Given the description of an element on the screen output the (x, y) to click on. 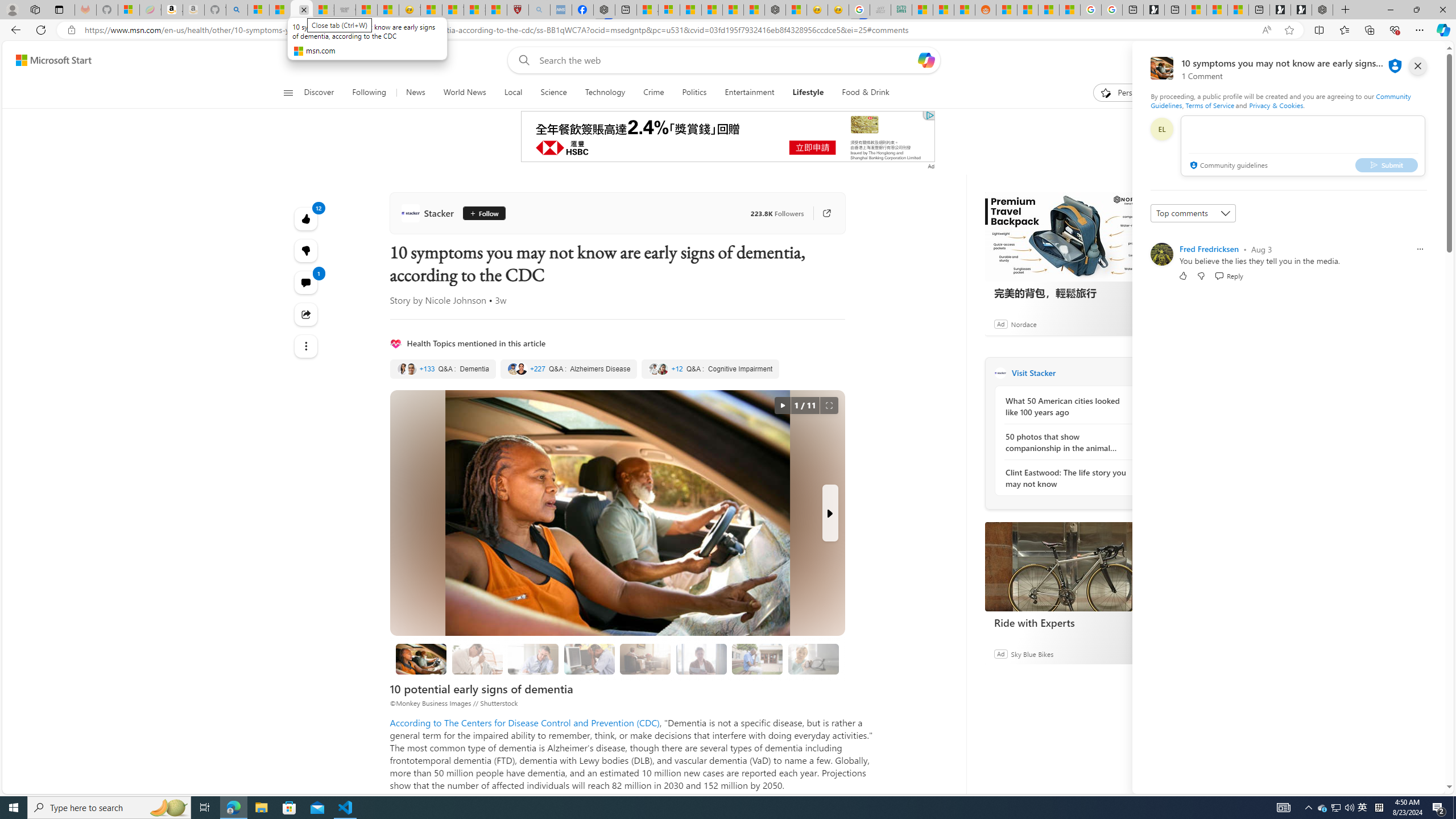
These 3 Stocks Pay You More Than 5% to Own Them (1238, 9)
Sky Blue Bikes (1031, 653)
Share this story (305, 314)
Sort comments by (1193, 212)
Crime (653, 92)
NCL Adult Asthma Inhaler Choice Guideline - Sleeping (561, 9)
